Given the description of an element on the screen output the (x, y) to click on. 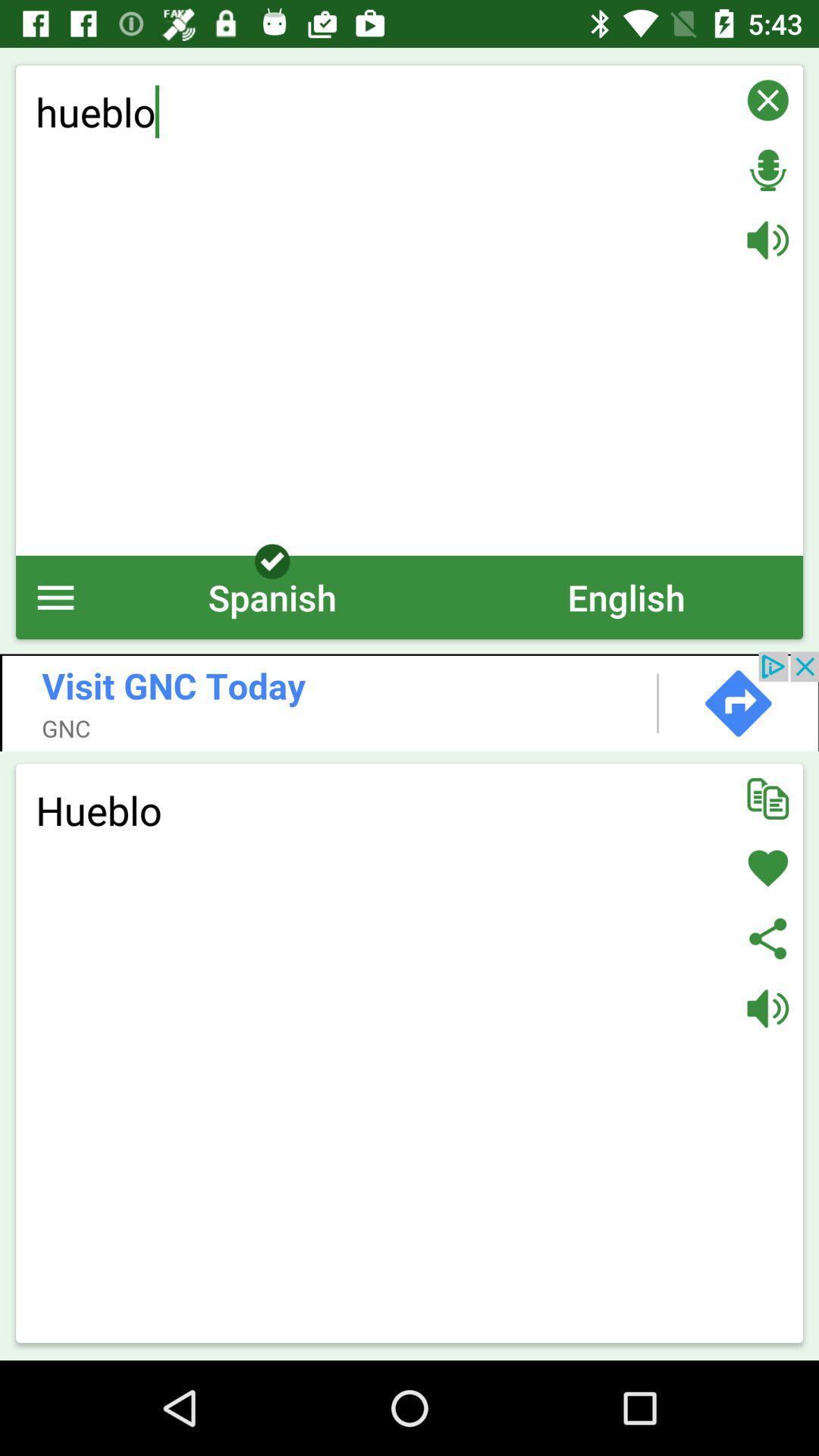
click x icon (768, 100)
